Given the description of an element on the screen output the (x, y) to click on. 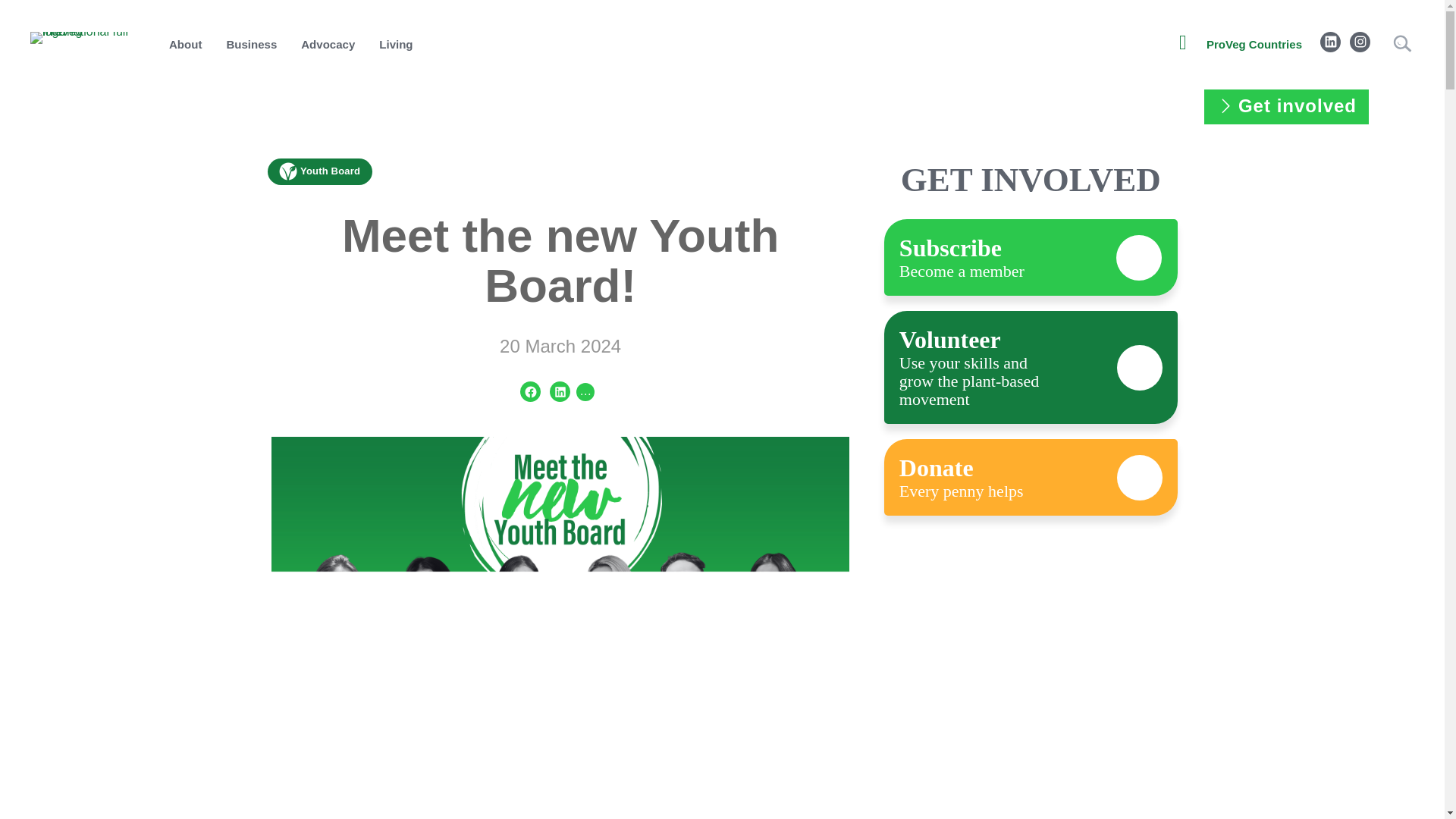
About (185, 44)
Business (251, 44)
ProVeg Countries (1253, 44)
Living (395, 44)
Advocacy (327, 44)
